Given the description of an element on the screen output the (x, y) to click on. 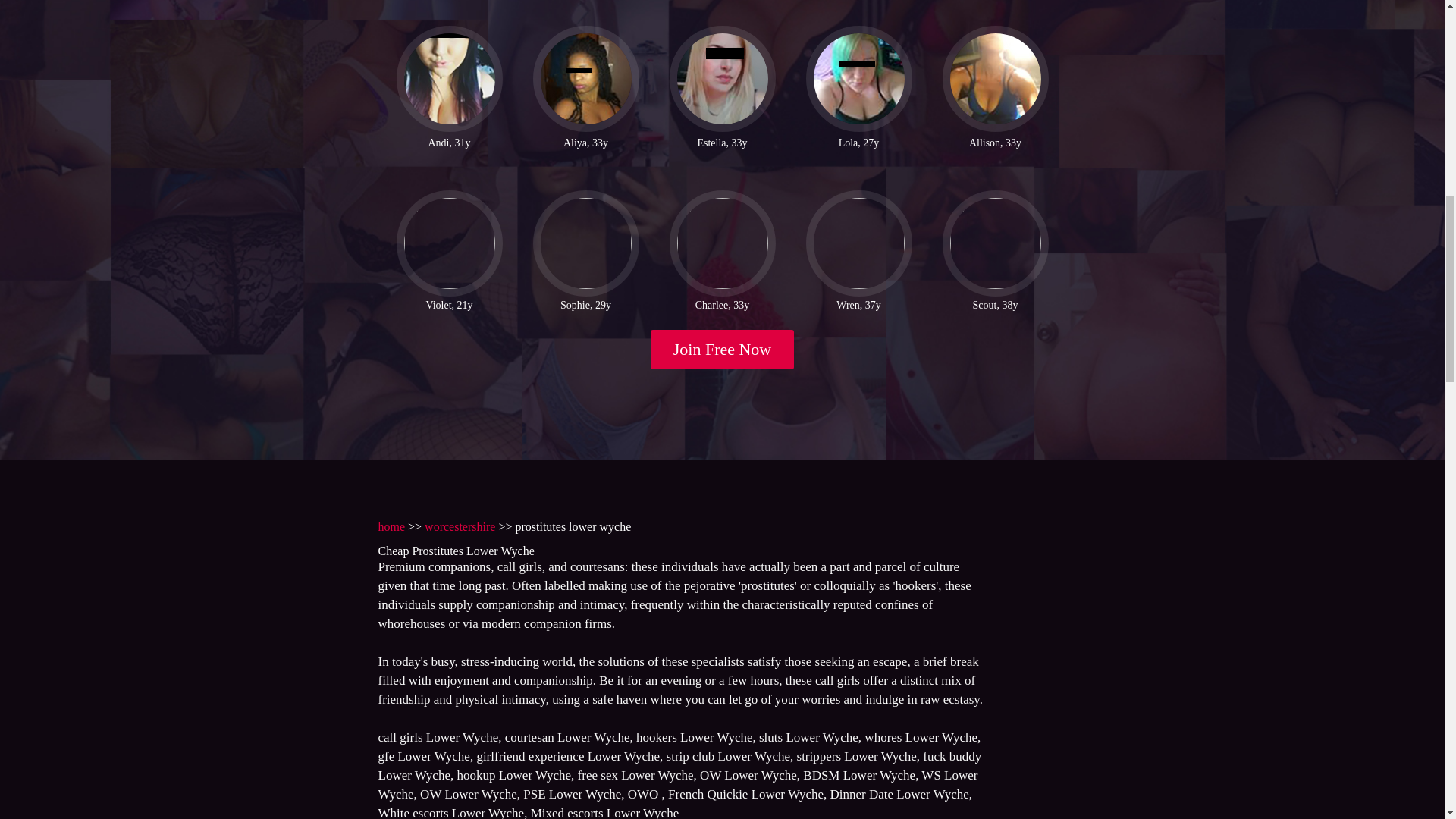
Join Free Now (722, 349)
Join (722, 349)
worcestershire (460, 526)
home (390, 526)
